Given the description of an element on the screen output the (x, y) to click on. 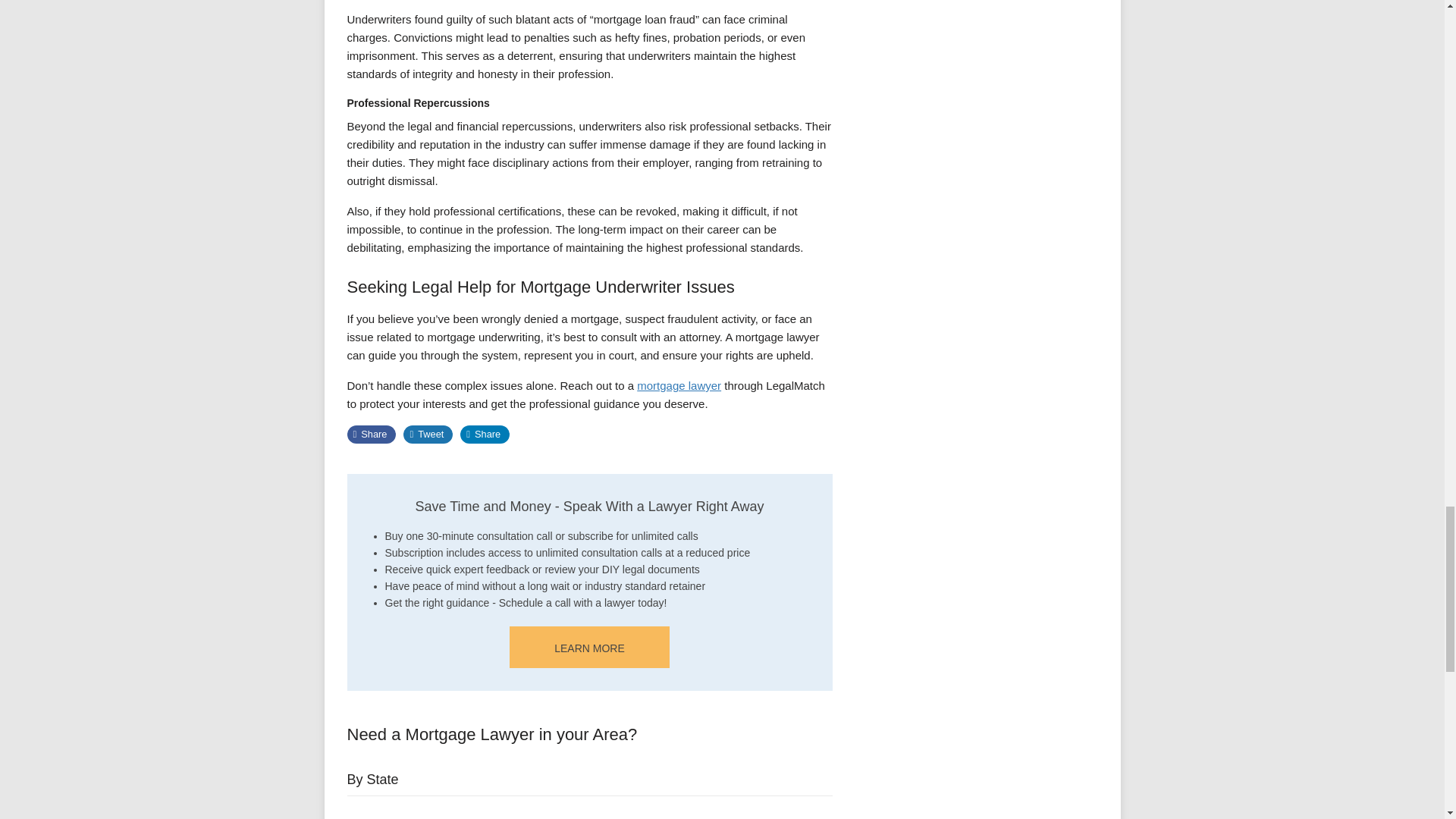
Share LawLib Page On Twitter (427, 434)
Share LawLib Page On Linkedin (484, 434)
Share LawLib Page On Facebook (371, 434)
